Given the description of an element on the screen output the (x, y) to click on. 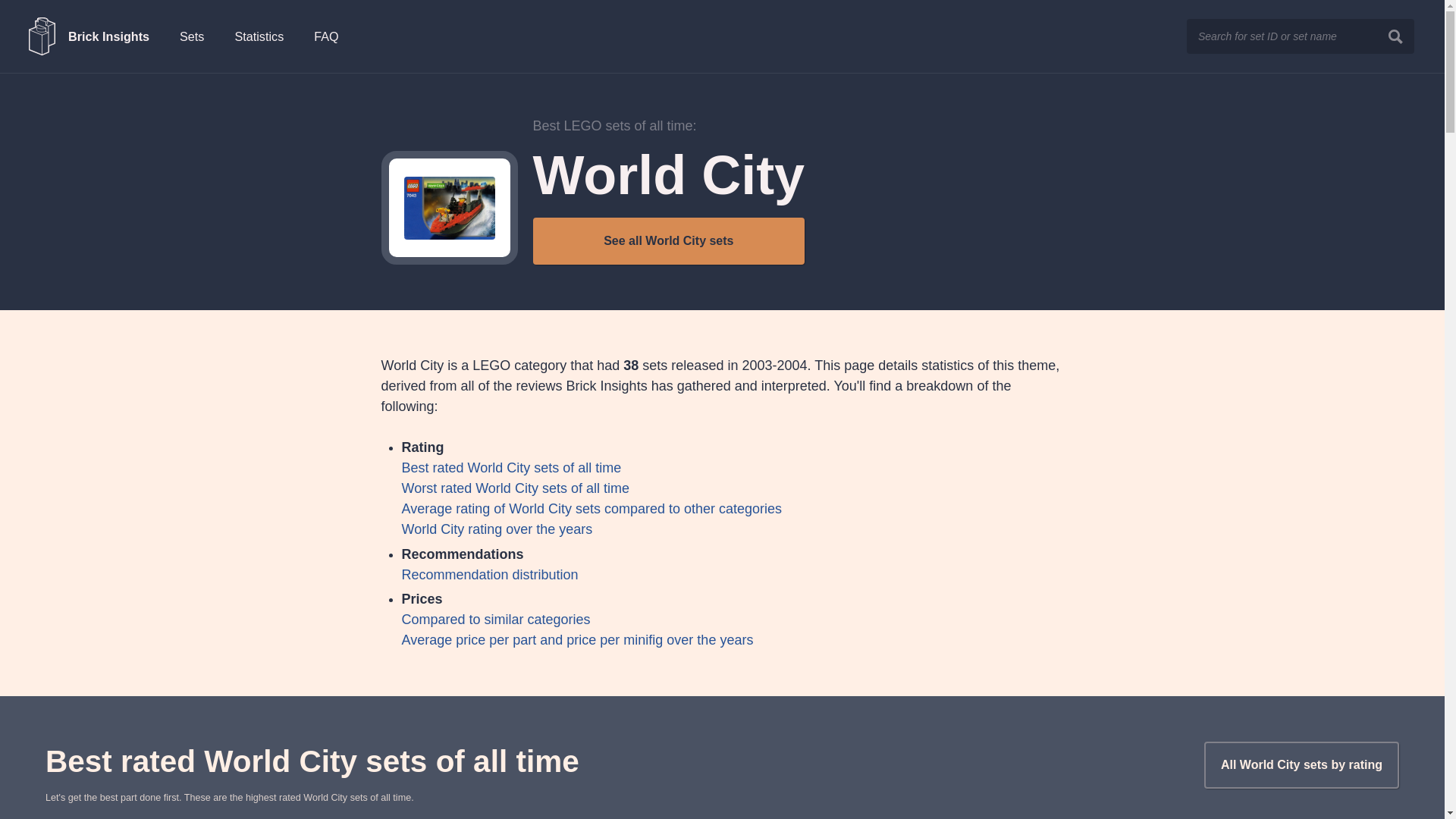
Worst rated World City sets of all time (514, 488)
Average price per part and price per minifig over the years (577, 639)
Recommendation distribution (489, 574)
All World City sets by rating (1301, 765)
Statistics (258, 36)
See all World City sets (668, 240)
Best rated World City sets of all time (511, 467)
World City rating over the years (496, 529)
Search (1395, 36)
Brick Insights (89, 36)
Compared to similar categories (496, 619)
